Given the description of an element on the screen output the (x, y) to click on. 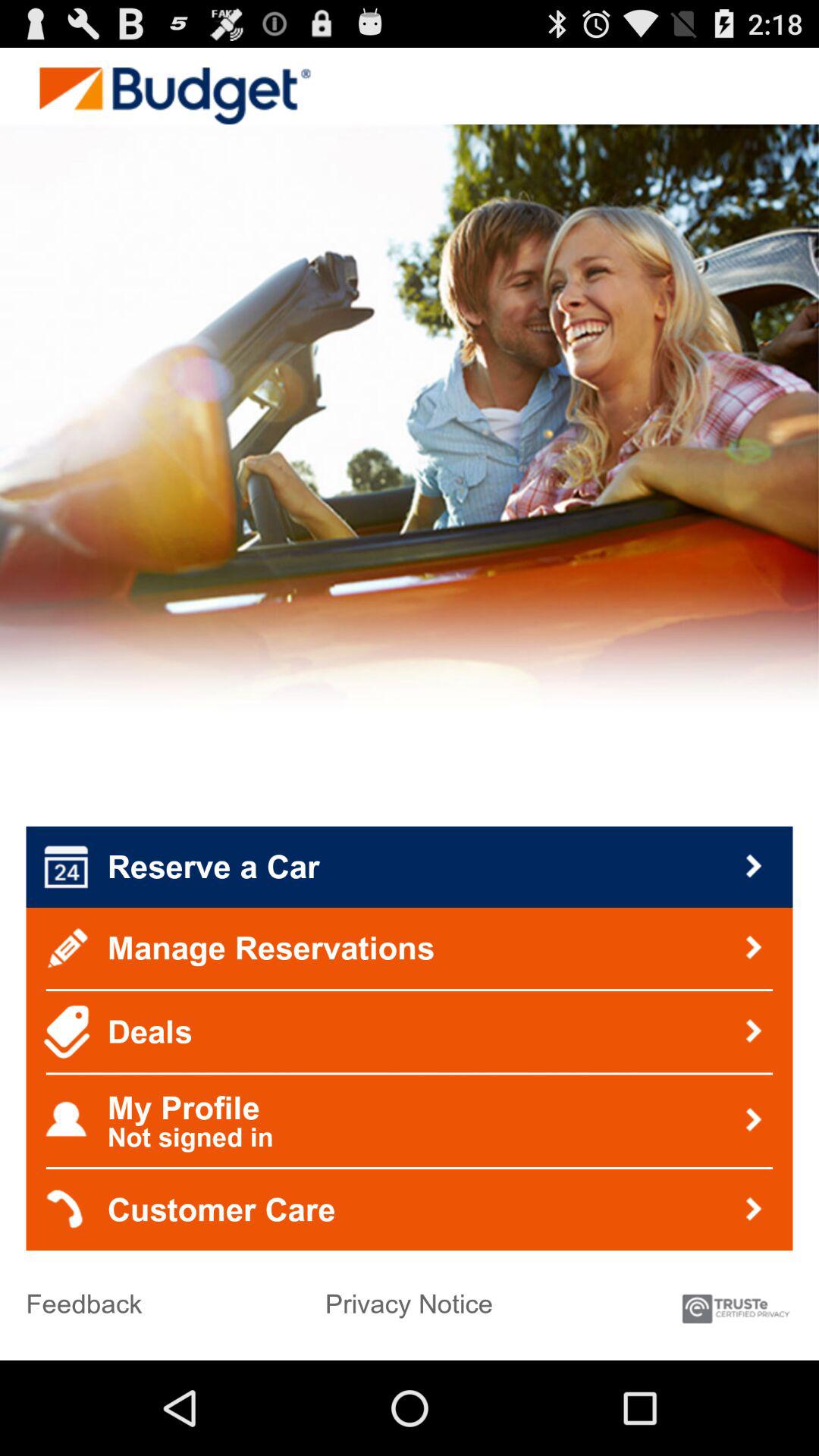
tap feedback (84, 1297)
